Given the description of an element on the screen output the (x, y) to click on. 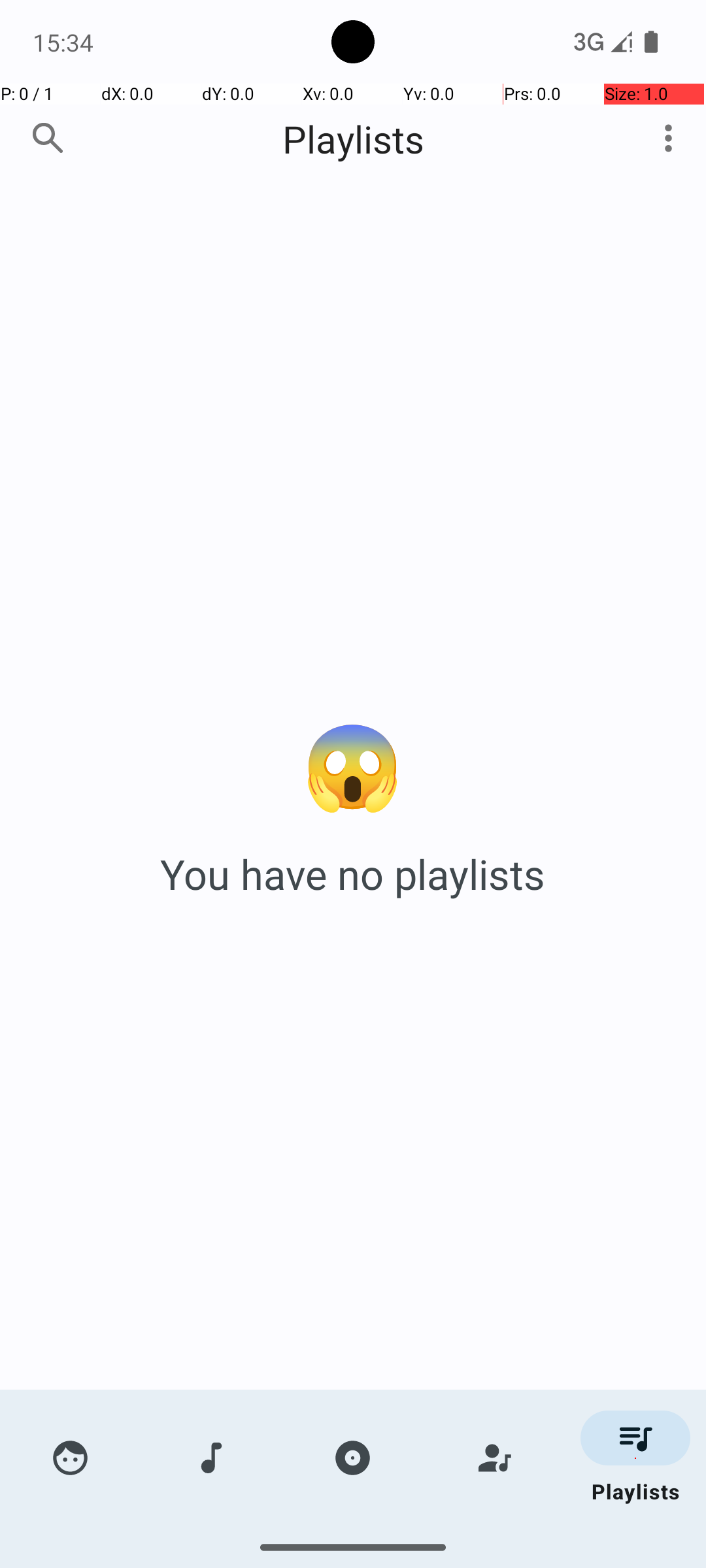
😱 Element type: android.widget.TextView (352, 763)
You have no playlists Element type: android.widget.TextView (352, 873)
